Given the description of an element on the screen output the (x, y) to click on. 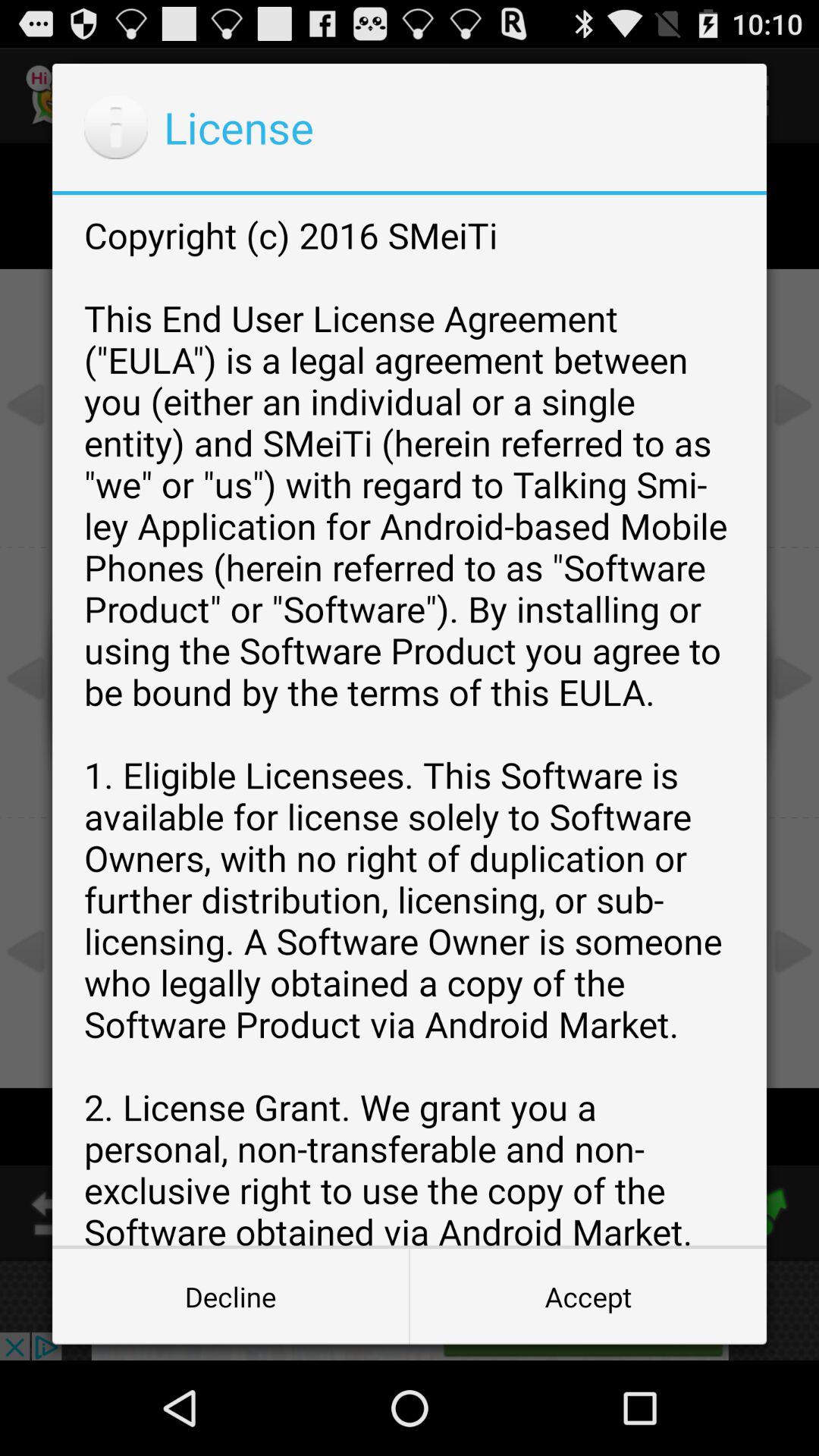
click the button next to decline (588, 1296)
